Given the description of an element on the screen output the (x, y) to click on. 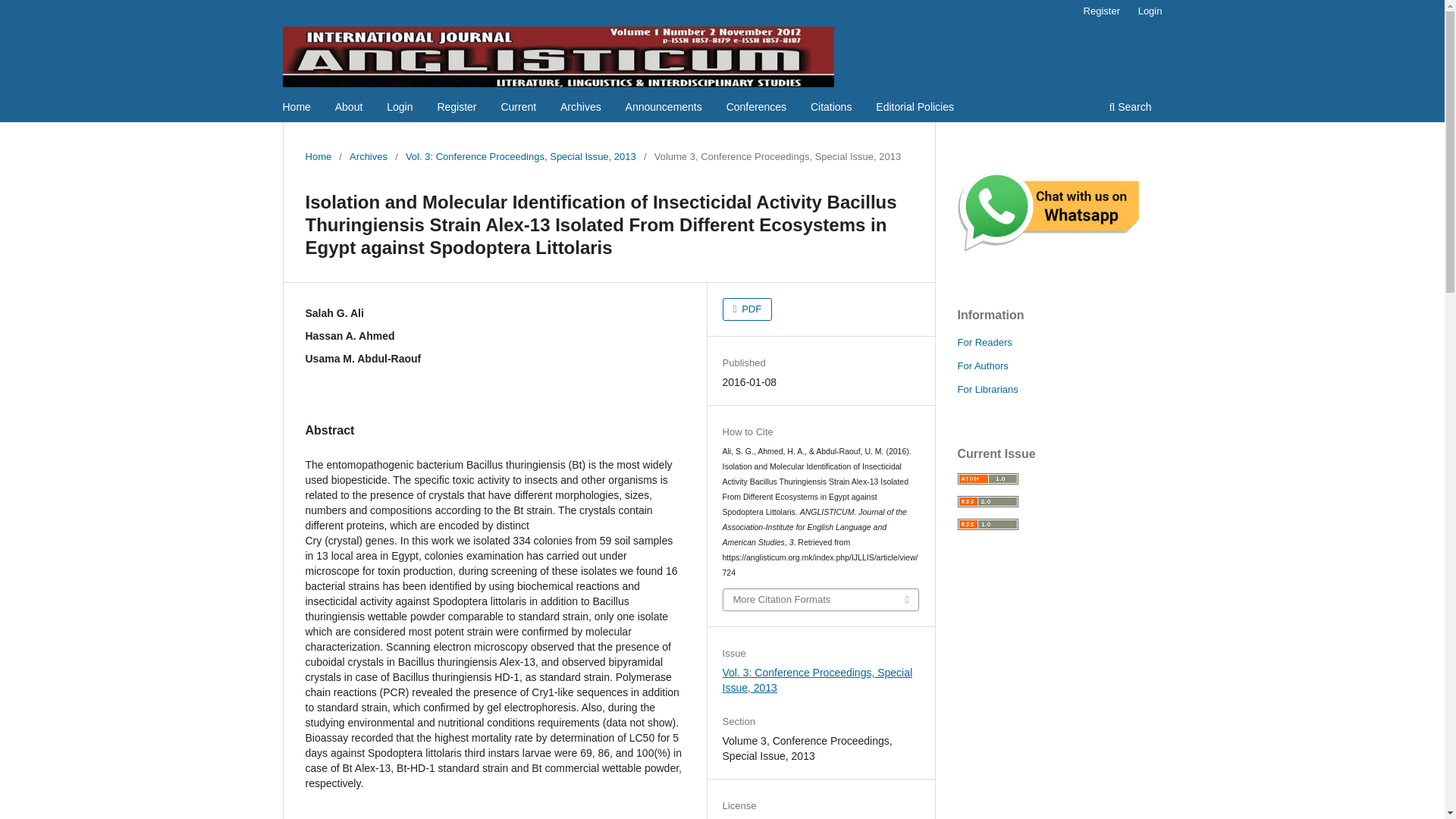
Announcements (663, 108)
PDF (747, 309)
Editorial Policies (914, 108)
Login (1150, 11)
Login (399, 108)
About (349, 108)
Register (1100, 11)
Home (296, 108)
Register (455, 108)
Current (518, 108)
Citations (831, 108)
Archives (580, 108)
Search (1129, 108)
Vol. 3: Conference Proceedings, Special Issue, 2013 (521, 156)
More Citation Formats (820, 599)
